Given the description of an element on the screen output the (x, y) to click on. 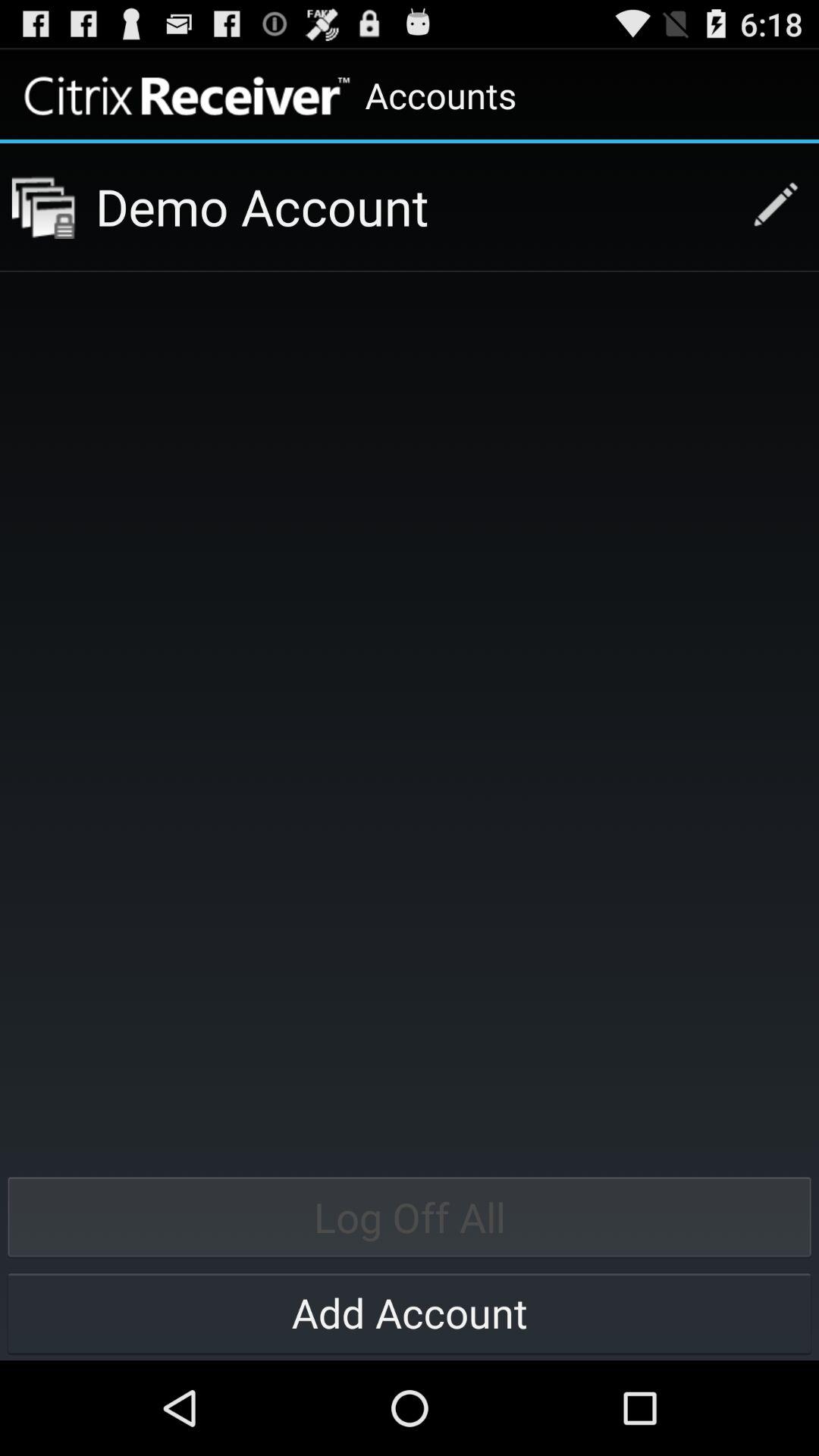
jump until log off all button (409, 1216)
